Given the description of an element on the screen output the (x, y) to click on. 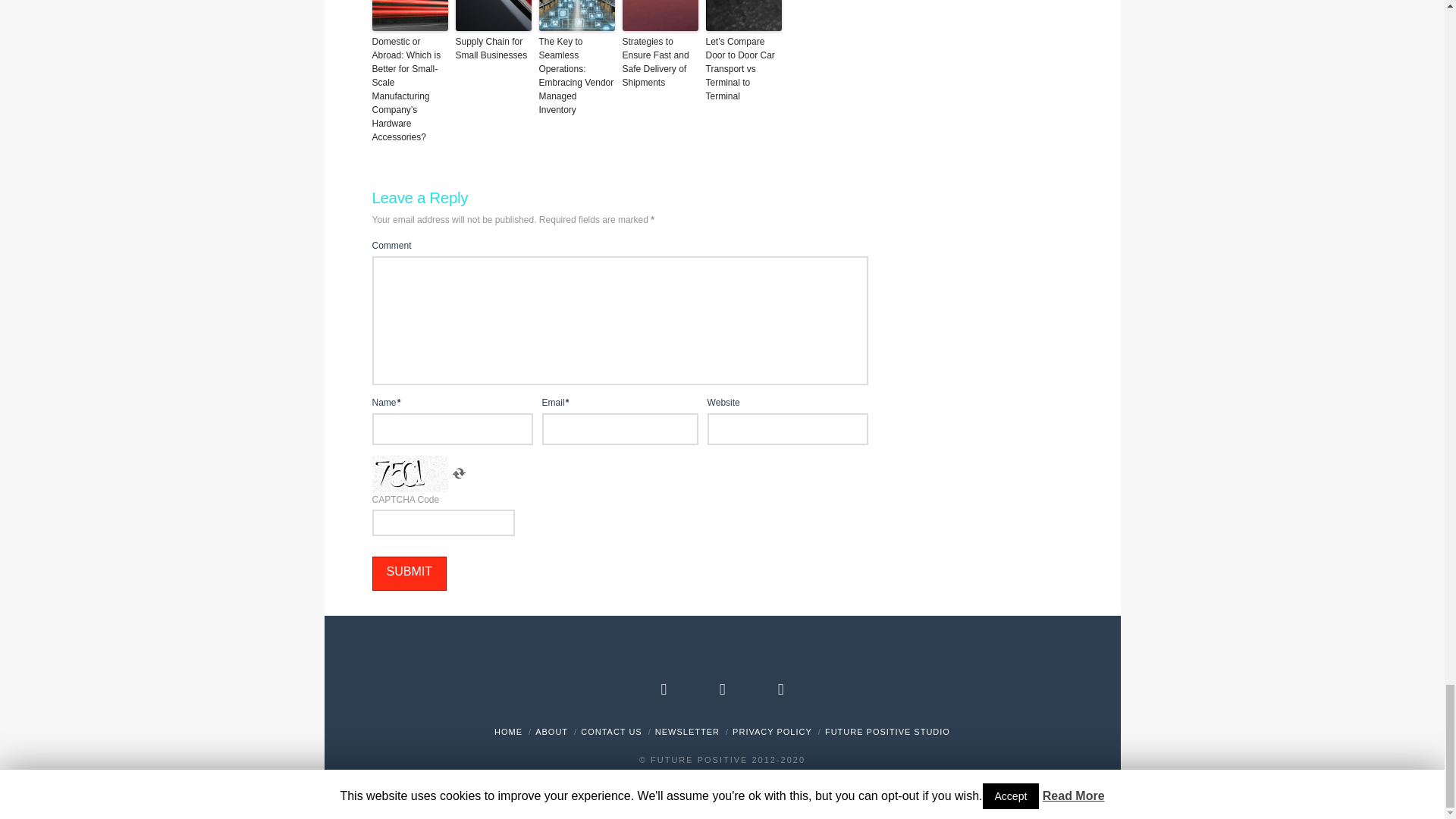
Submit (408, 573)
Supply Chain for Small Businesses (492, 48)
Submit (408, 573)
Twitter (721, 689)
Instagram (781, 689)
Strategies to Ensure Fast and Safe Delivery of Shipments (659, 62)
Facebook (663, 689)
Captcha Reload (458, 474)
